Given the description of an element on the screen output the (x, y) to click on. 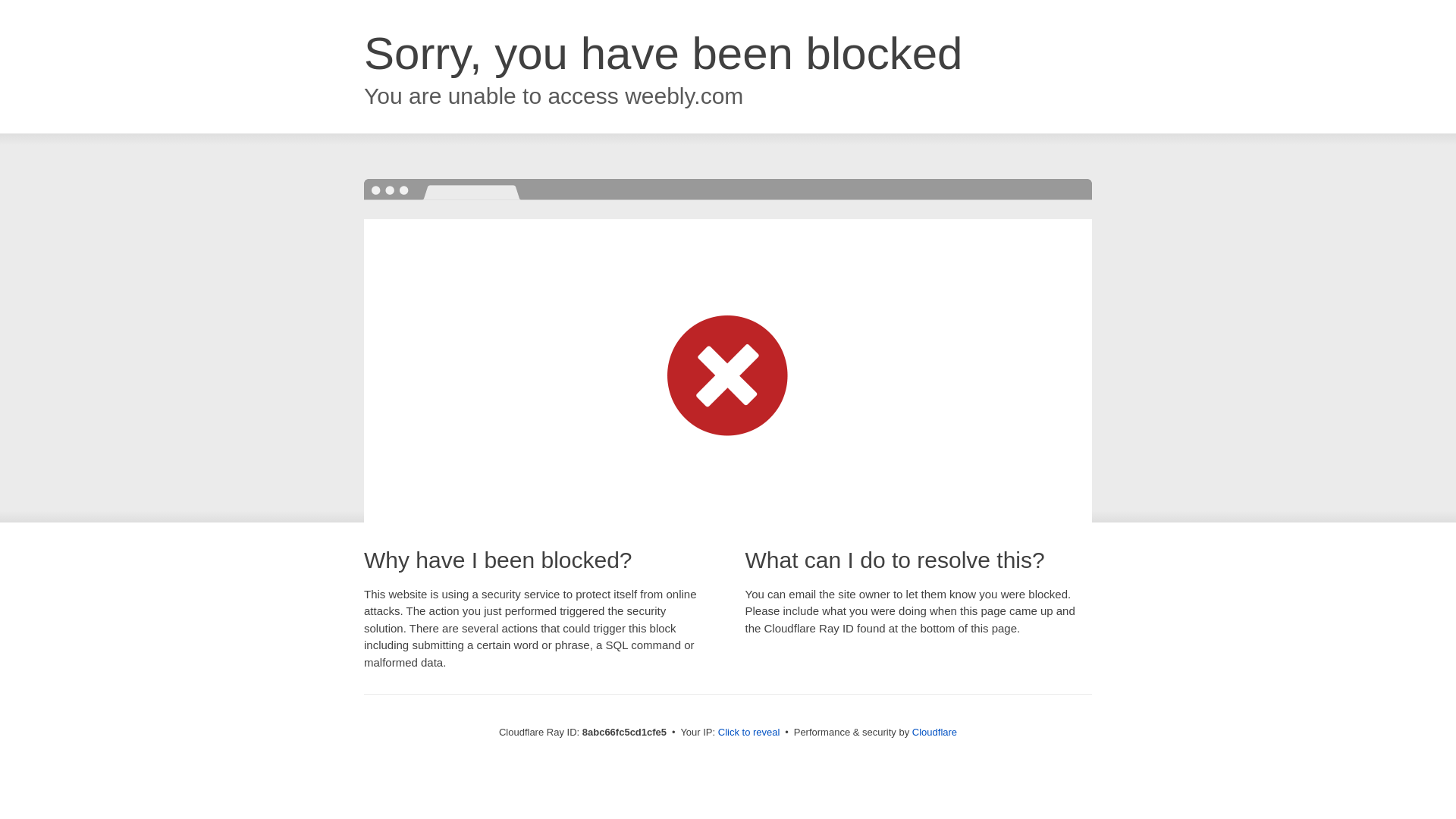
Cloudflare (934, 731)
Click to reveal (748, 732)
